Given the description of an element on the screen output the (x, y) to click on. 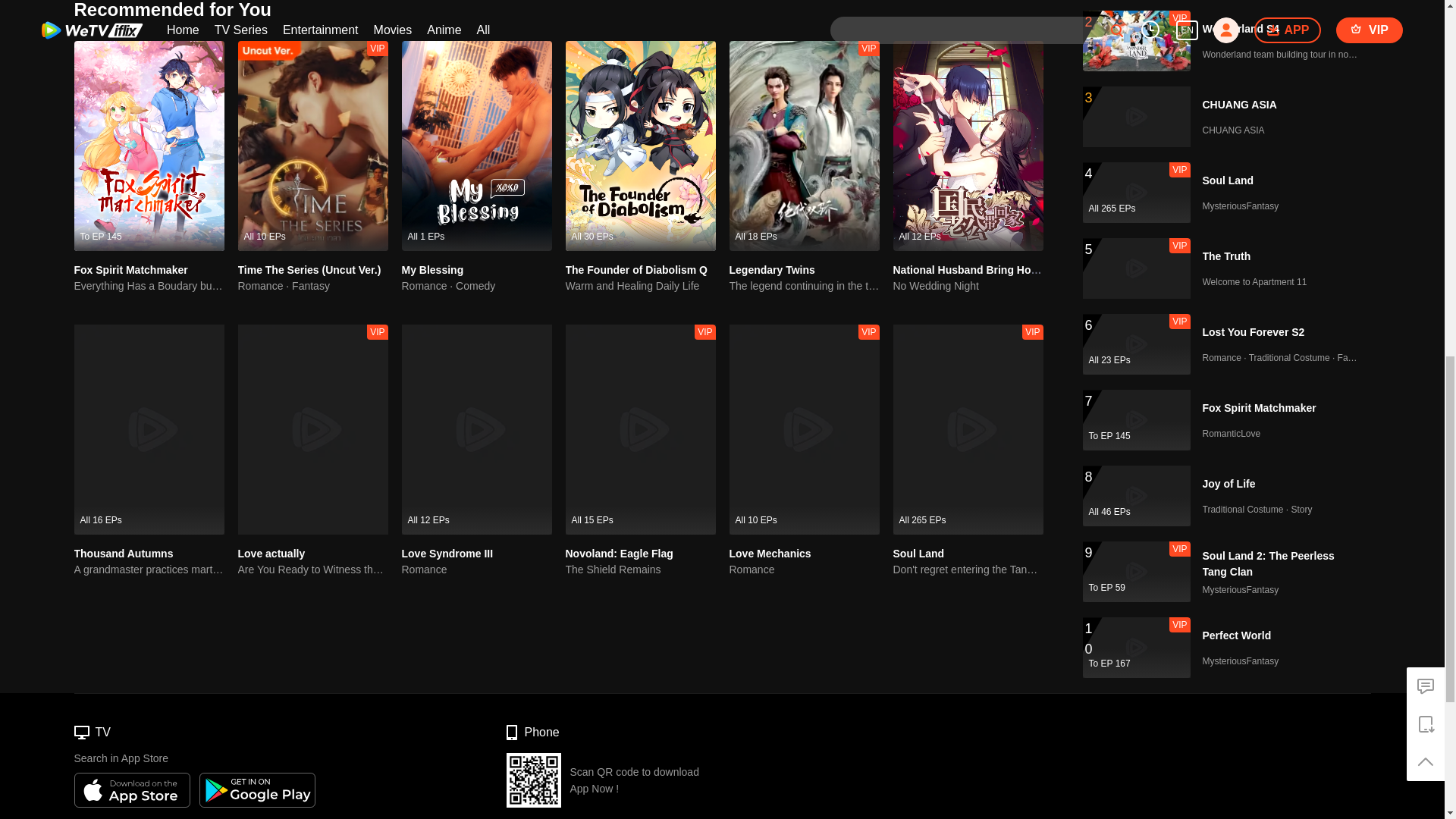
Thousand Autumns (123, 553)
Legendary Twins (772, 269)
The Founder of Diabolism Q (636, 269)
Warm and Healing Daily Life (641, 286)
The Founder of Diabolism Q (636, 269)
National Husband Bring Home SS1 (981, 269)
Legendary Twins (772, 269)
No Wedding Night (968, 286)
My Blessing (432, 269)
Fox Spirit Matchmaker (130, 269)
Fox Spirit Matchmaker (130, 269)
My Blessing (432, 269)
